Given the description of an element on the screen output the (x, y) to click on. 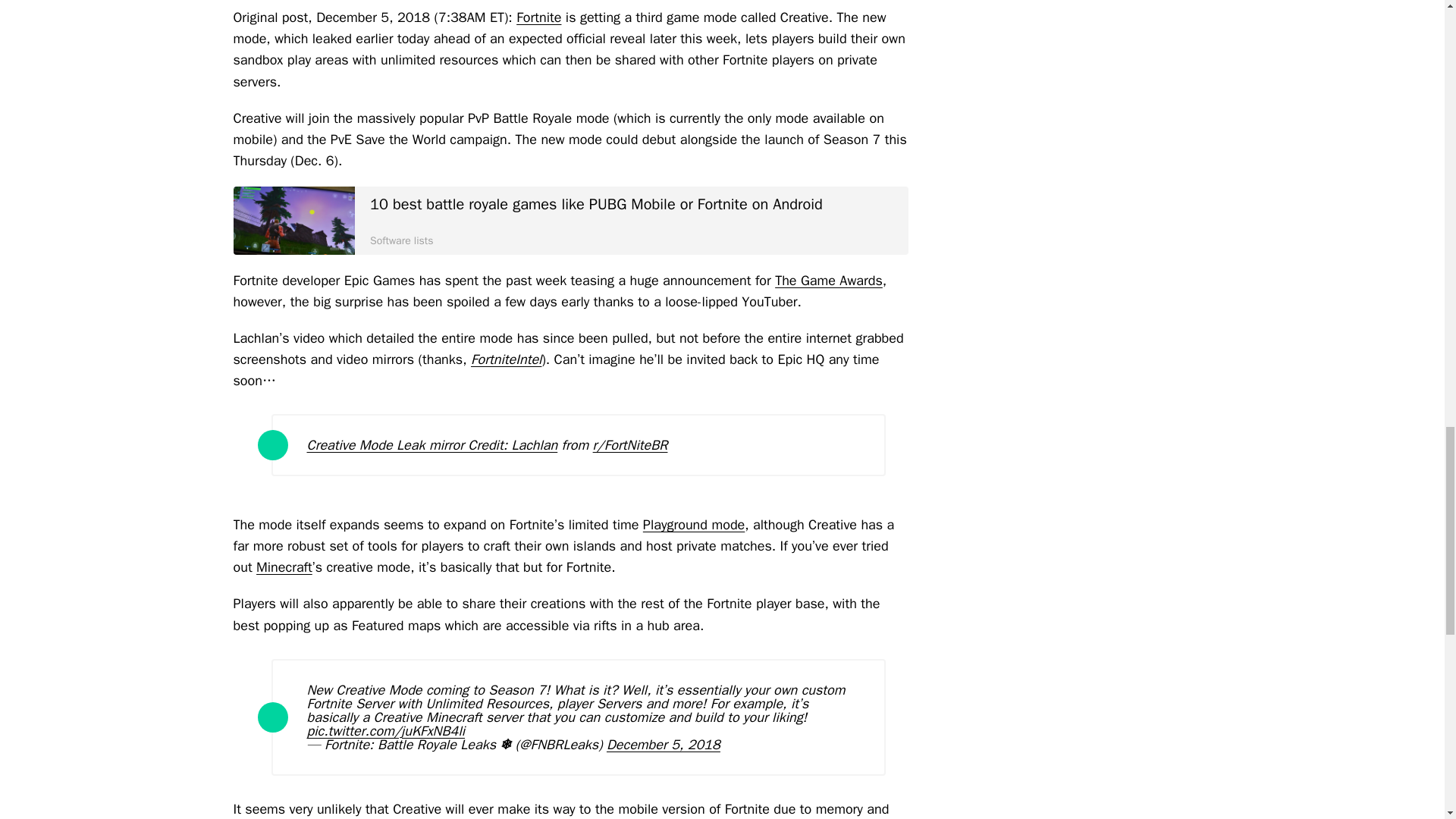
December 5, 2018 (663, 744)
FortniteIntel (505, 359)
Creative Mode Leak mirror Credit: Lachlan (431, 444)
Fortnite Game Play 3 (293, 220)
Playground mode (693, 524)
Minecraft (284, 566)
The Game Awards (828, 280)
Fortnite (538, 17)
